Given the description of an element on the screen output the (x, y) to click on. 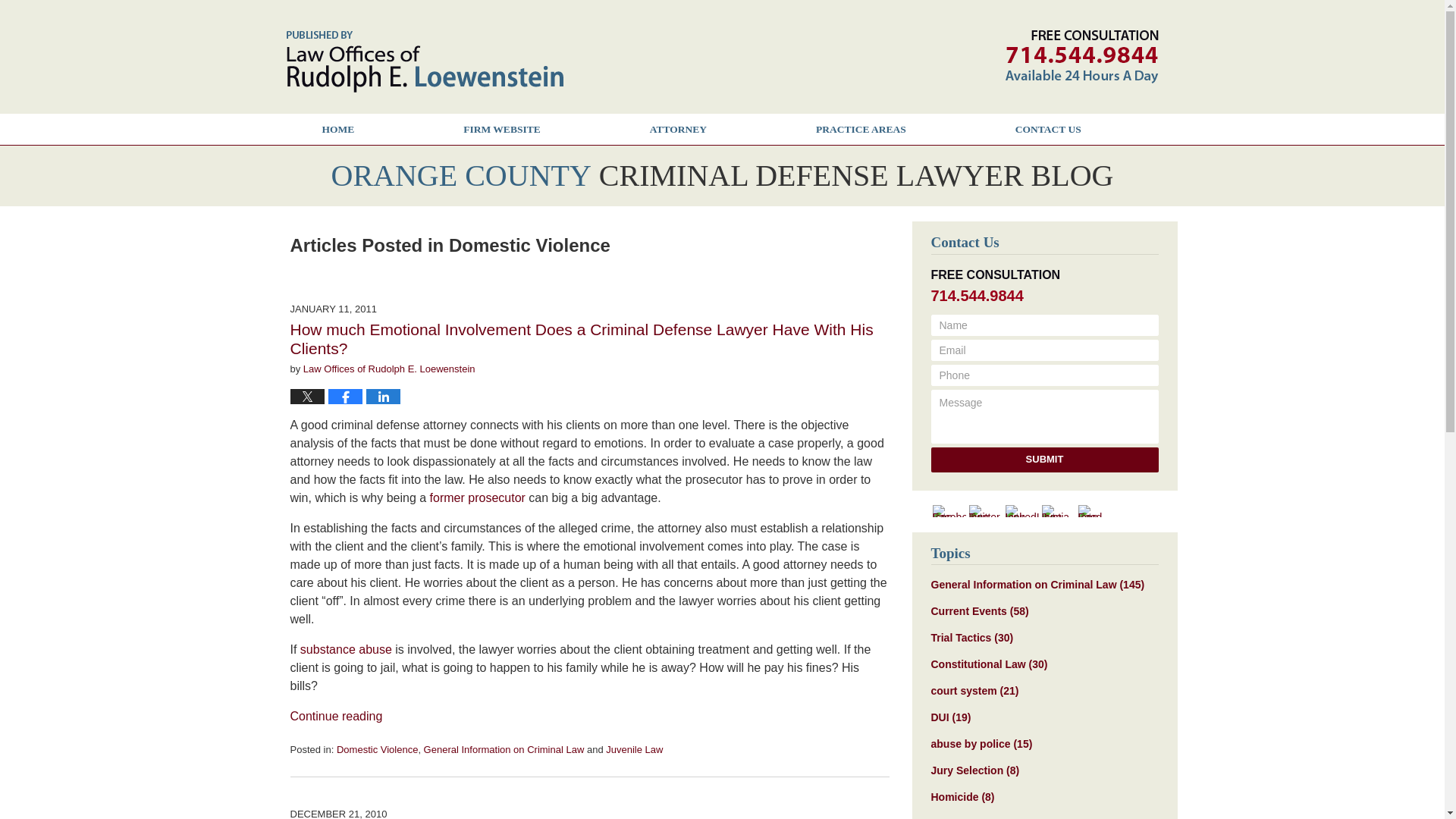
substance abuse (345, 649)
View all posts in Domestic Violence (376, 749)
FIRM WEBSITE (501, 128)
ORANGE COUNTY CRIMINAL DEFENSE LAWYER BLOG (721, 175)
PRACTICE AREAS (860, 128)
Continue reading (335, 716)
HOME (337, 128)
Law Offices of Rudolph E. Loewenstein (389, 368)
View all posts in Juvenile Law (633, 749)
ATTORNEY (678, 128)
Domestic Violence (376, 749)
General Information on Criminal Law (504, 749)
Orange County Criminal Defense Lawyer Blog (424, 61)
Justia (1059, 510)
